Given the description of an element on the screen output the (x, y) to click on. 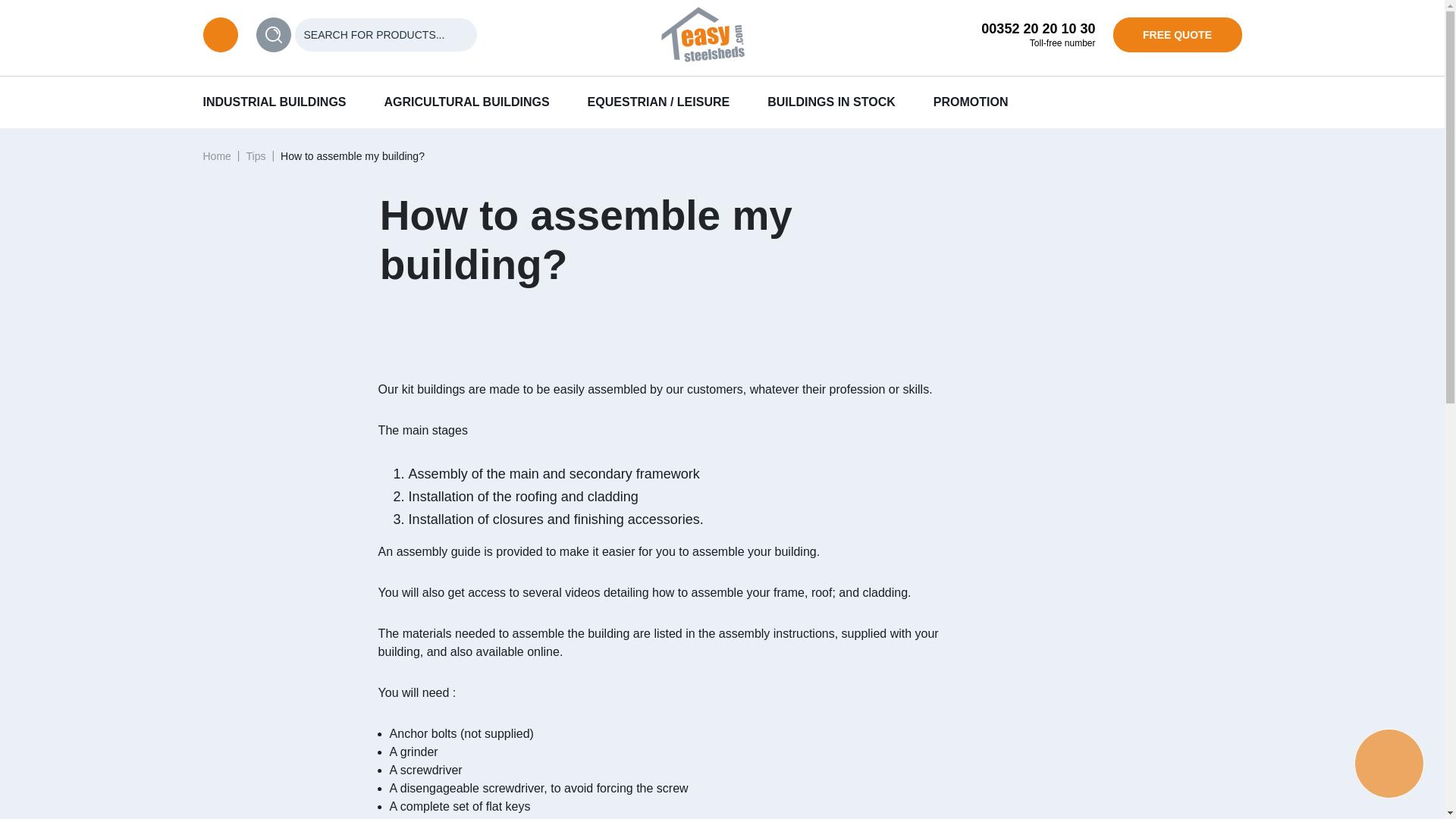
PROMOTION (971, 102)
Search (273, 34)
Tips (255, 155)
AGRICULTURAL BUILDINGS (467, 102)
BUILDINGS IN STOCK (831, 102)
Home (217, 155)
INDUSTRIAL BUILDINGS (274, 102)
FREE QUOTE (1177, 34)
